Given the description of an element on the screen output the (x, y) to click on. 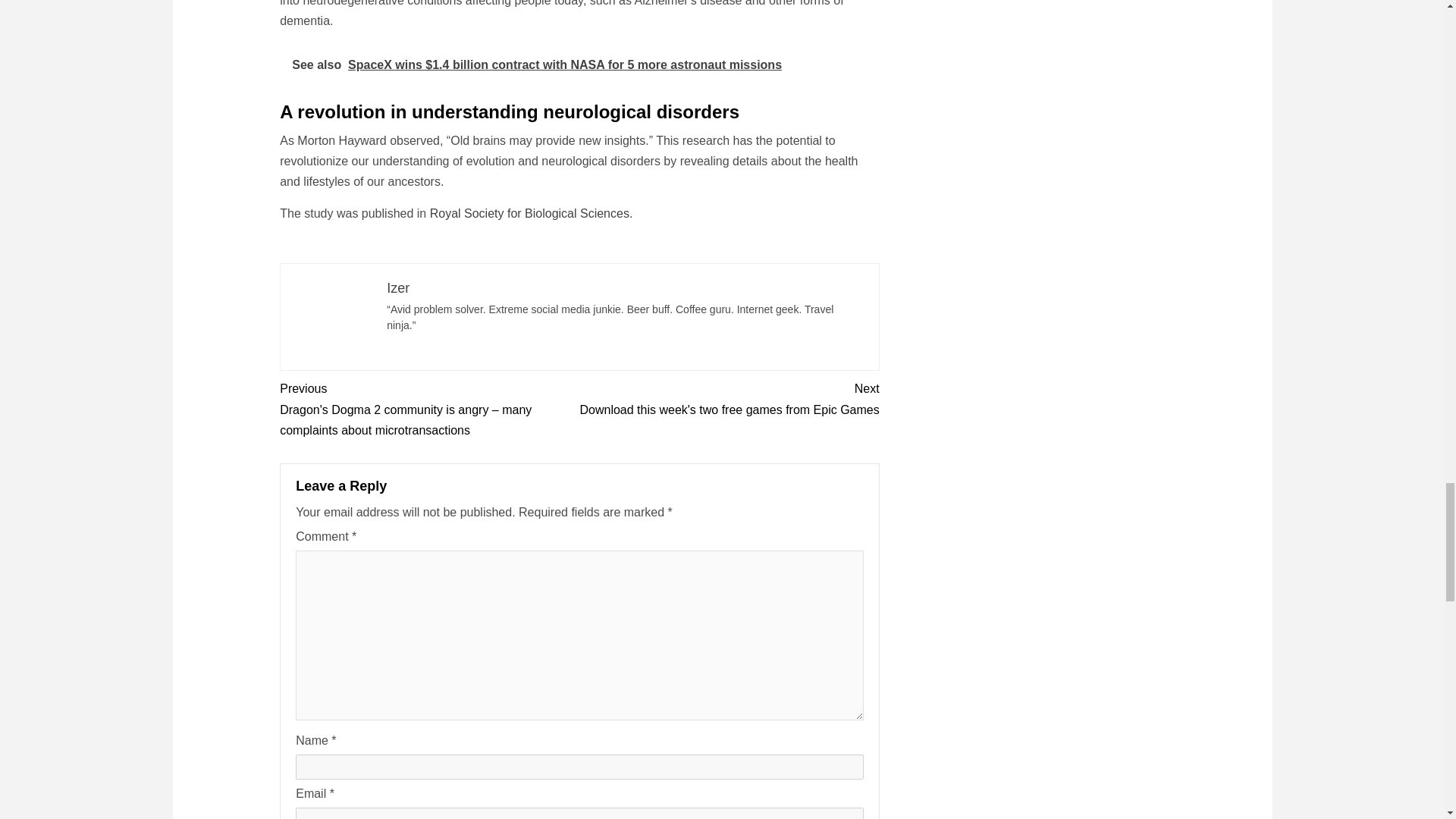
Royal Society for Biological Sciences. (531, 213)
Izer (398, 287)
